Given the description of an element on the screen output the (x, y) to click on. 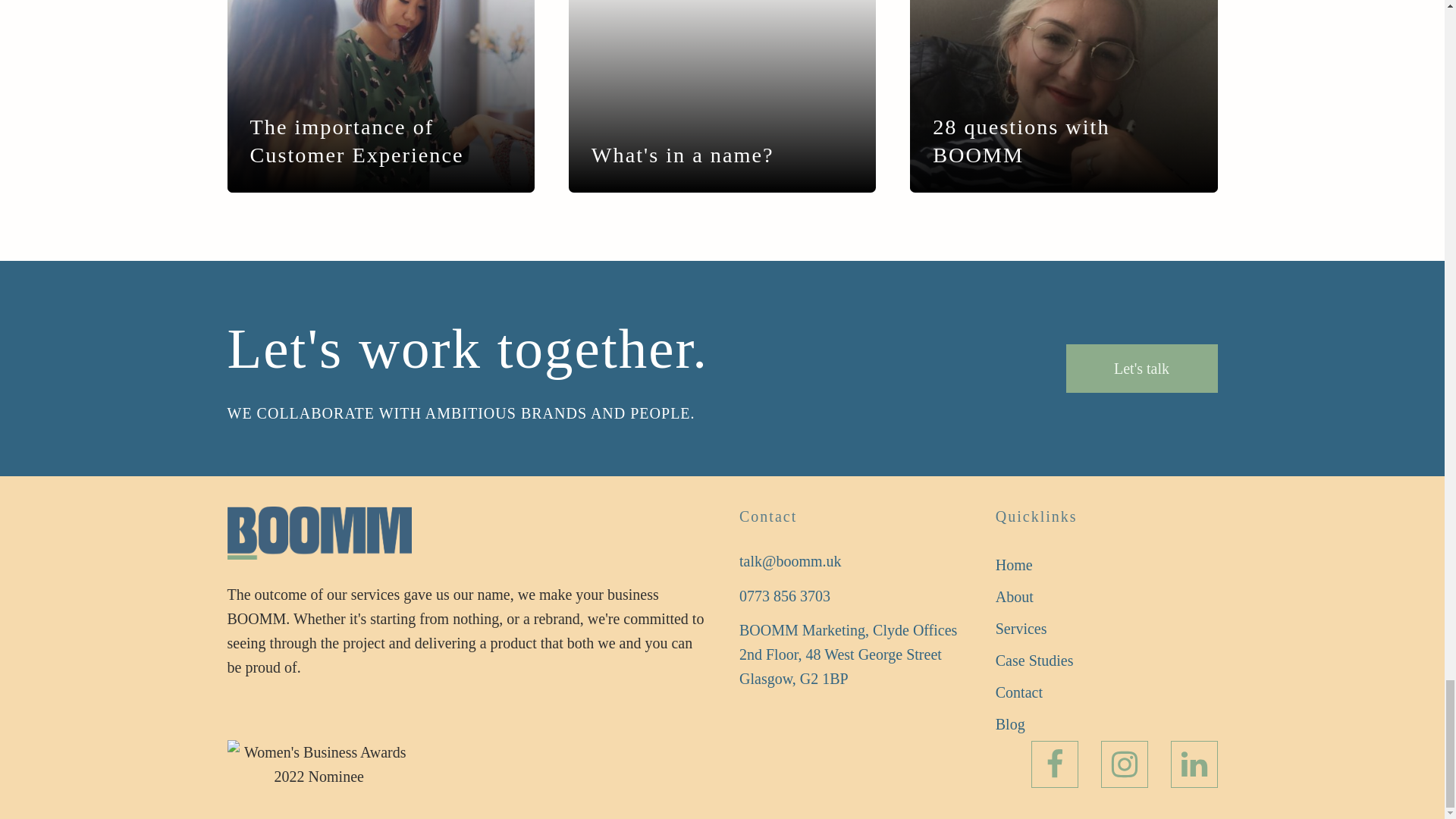
Let's talk (1141, 368)
Case Studies (1034, 660)
0773 856 3703 (784, 595)
About (1034, 596)
28 questions with BOOMM (1063, 141)
The importance of Customer Experience (381, 141)
Home (1034, 564)
Blog (1034, 724)
What's in a name? (682, 155)
Services (1034, 628)
